Given the description of an element on the screen output the (x, y) to click on. 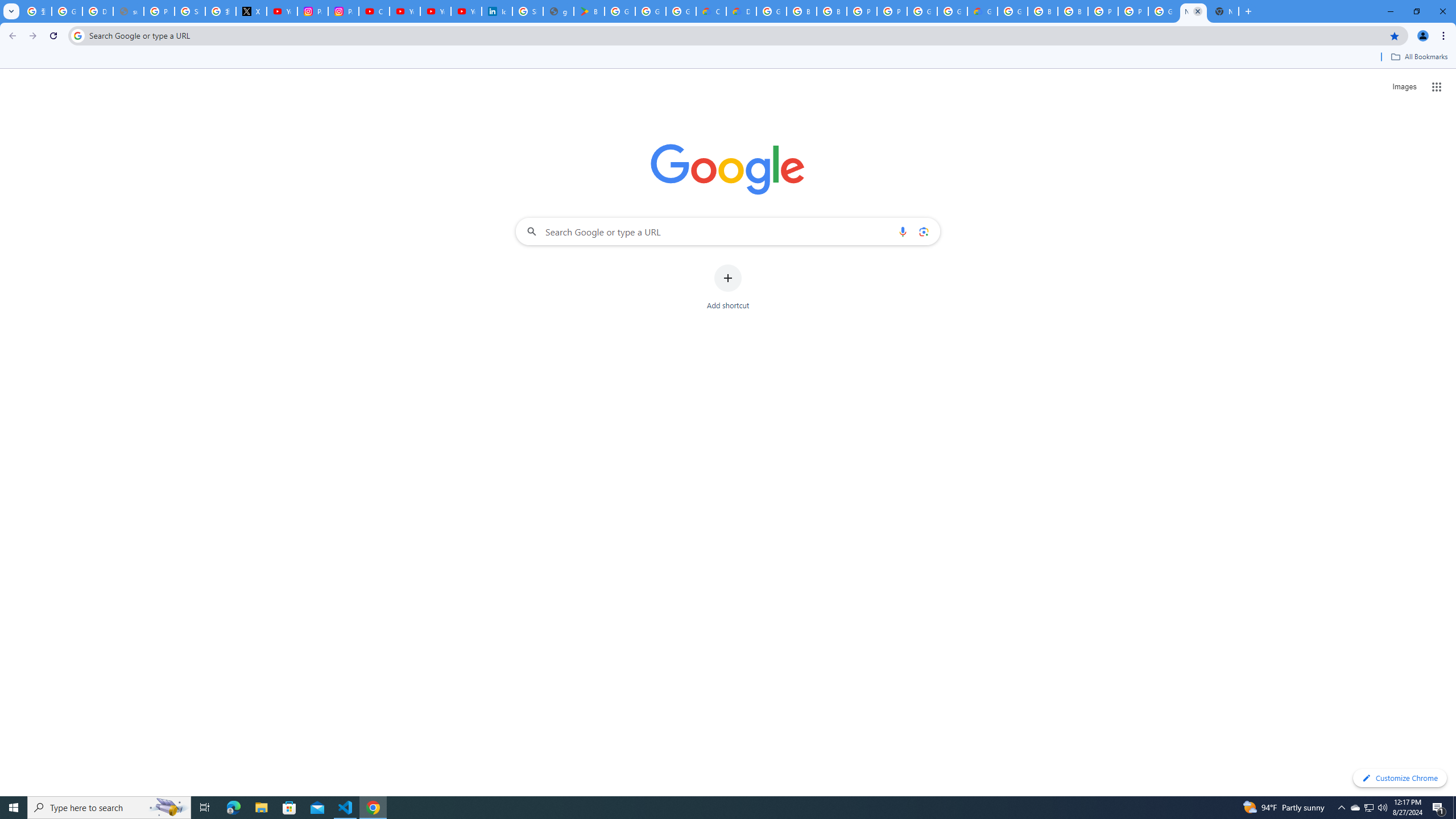
Bookmarks (728, 58)
Google Cloud Platform (771, 11)
Browse Chrome as a guest - Computer - Google Chrome Help (830, 11)
Browse Chrome as a guest - Computer - Google Chrome Help (1072, 11)
YouTube Culture & Trends - YouTube Top 10, 2021 (465, 11)
